Given the description of an element on the screen output the (x, y) to click on. 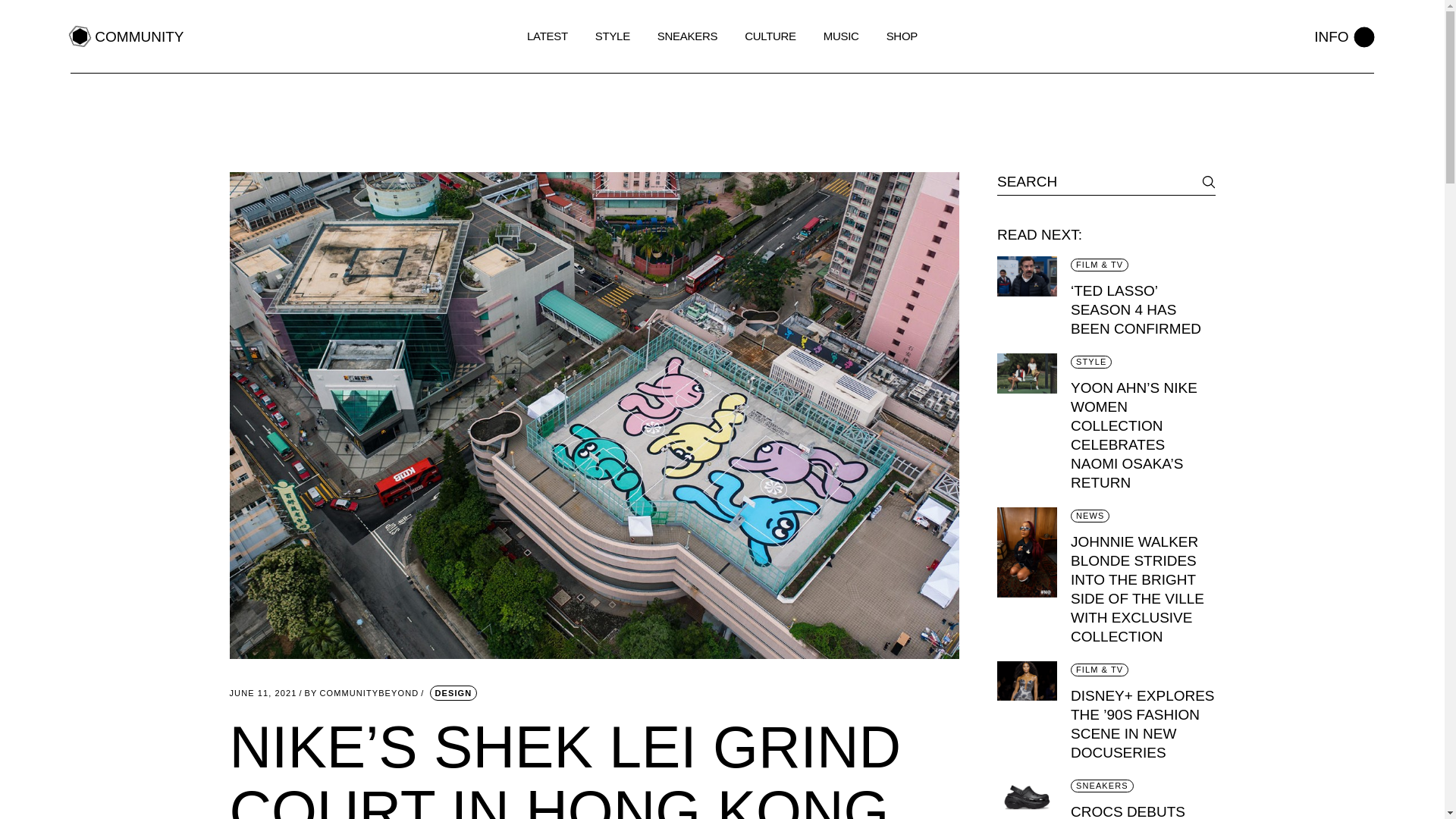
JUNE 11, 2021 (361, 693)
COMMUNITY (262, 693)
INFO (126, 36)
DESIGN (1343, 36)
